Given the description of an element on the screen output the (x, y) to click on. 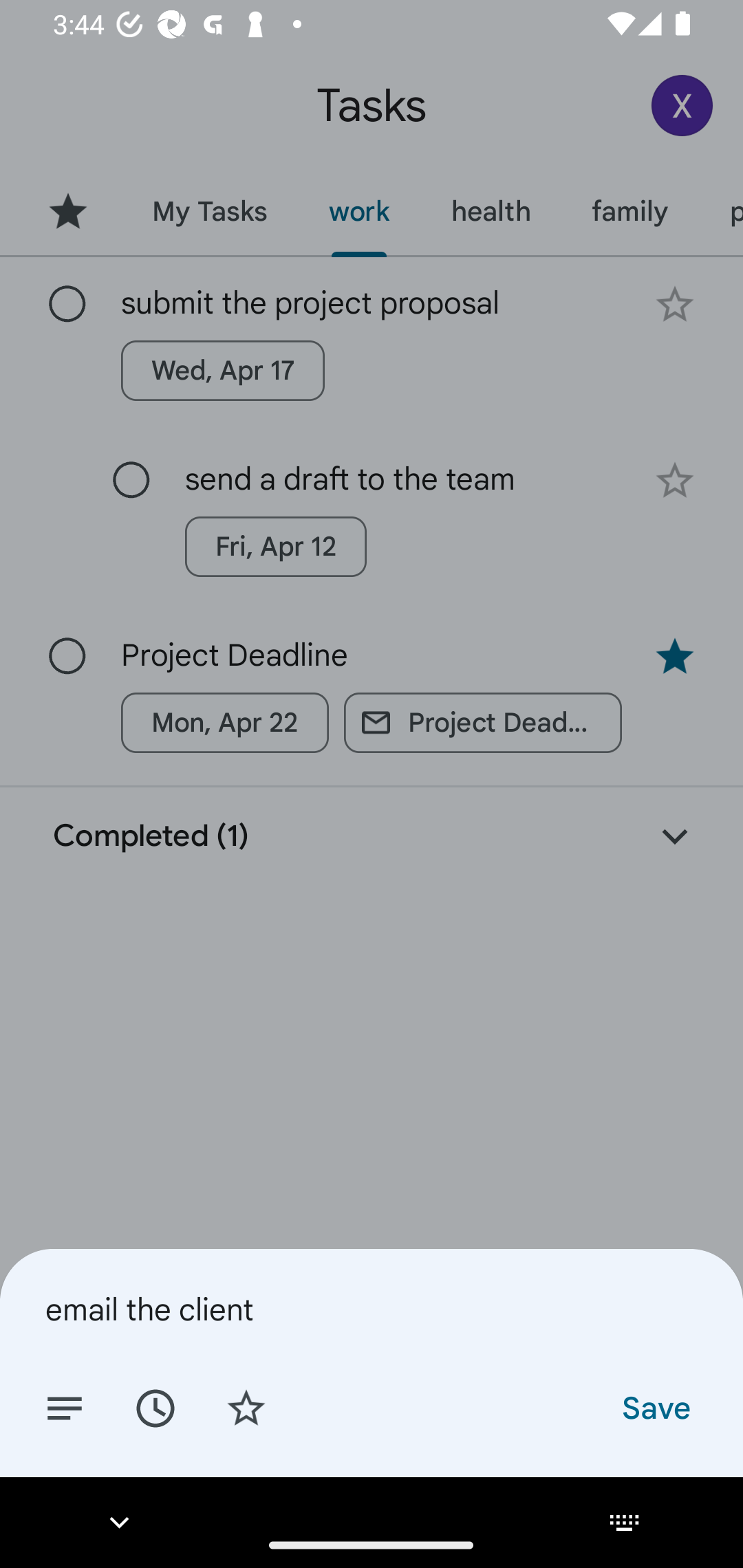
email the client (371, 1308)
Save (655, 1407)
Add details (64, 1407)
Set date/time (154, 1407)
Add star (245, 1407)
